Given the description of an element on the screen output the (x, y) to click on. 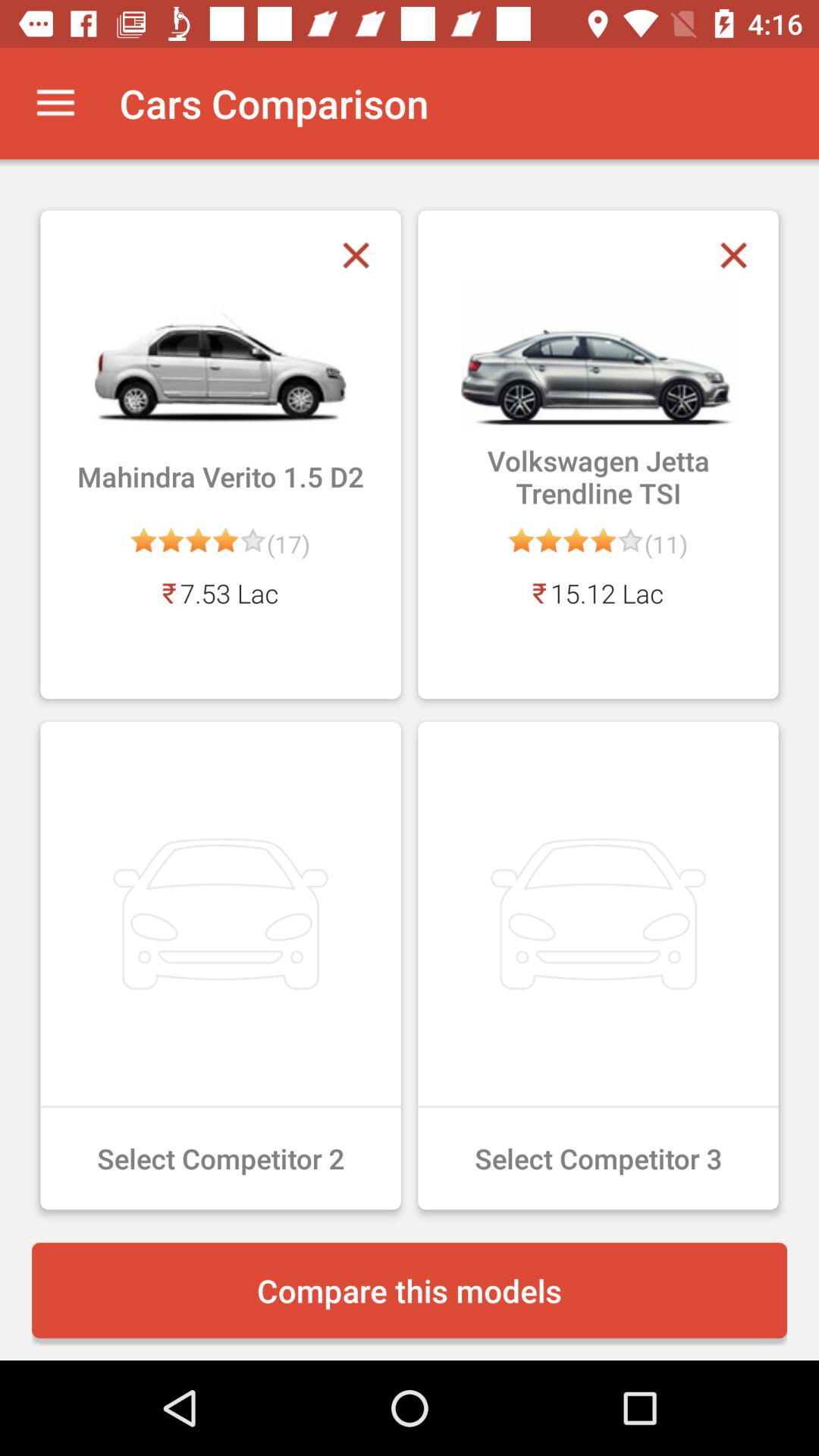
launch the app to the left of the cars comparison item (55, 103)
